Given the description of an element on the screen output the (x, y) to click on. 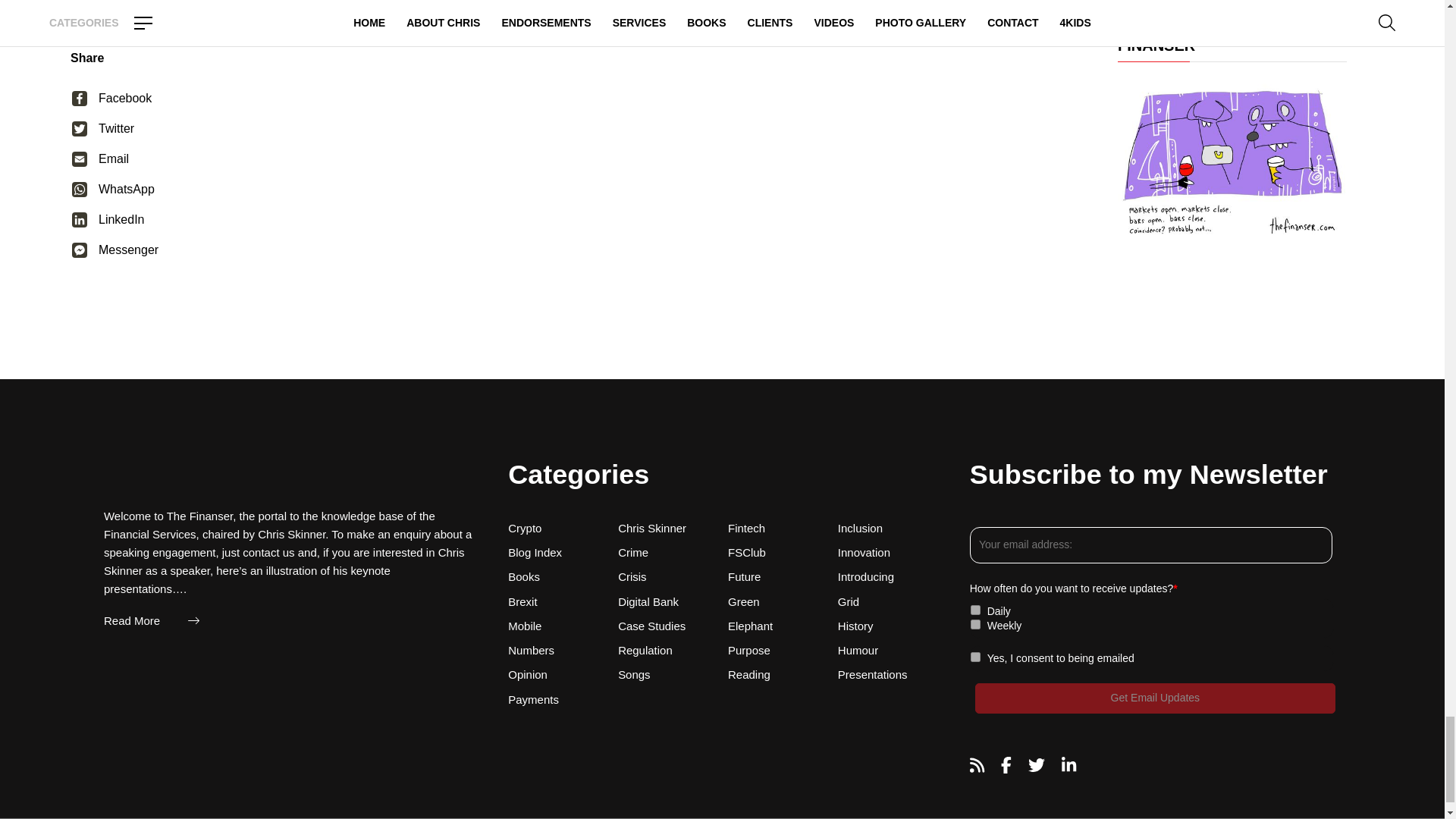
daily (975, 610)
accepted (975, 656)
Get Email Updates (1155, 698)
weekly (975, 623)
